Given the description of an element on the screen output the (x, y) to click on. 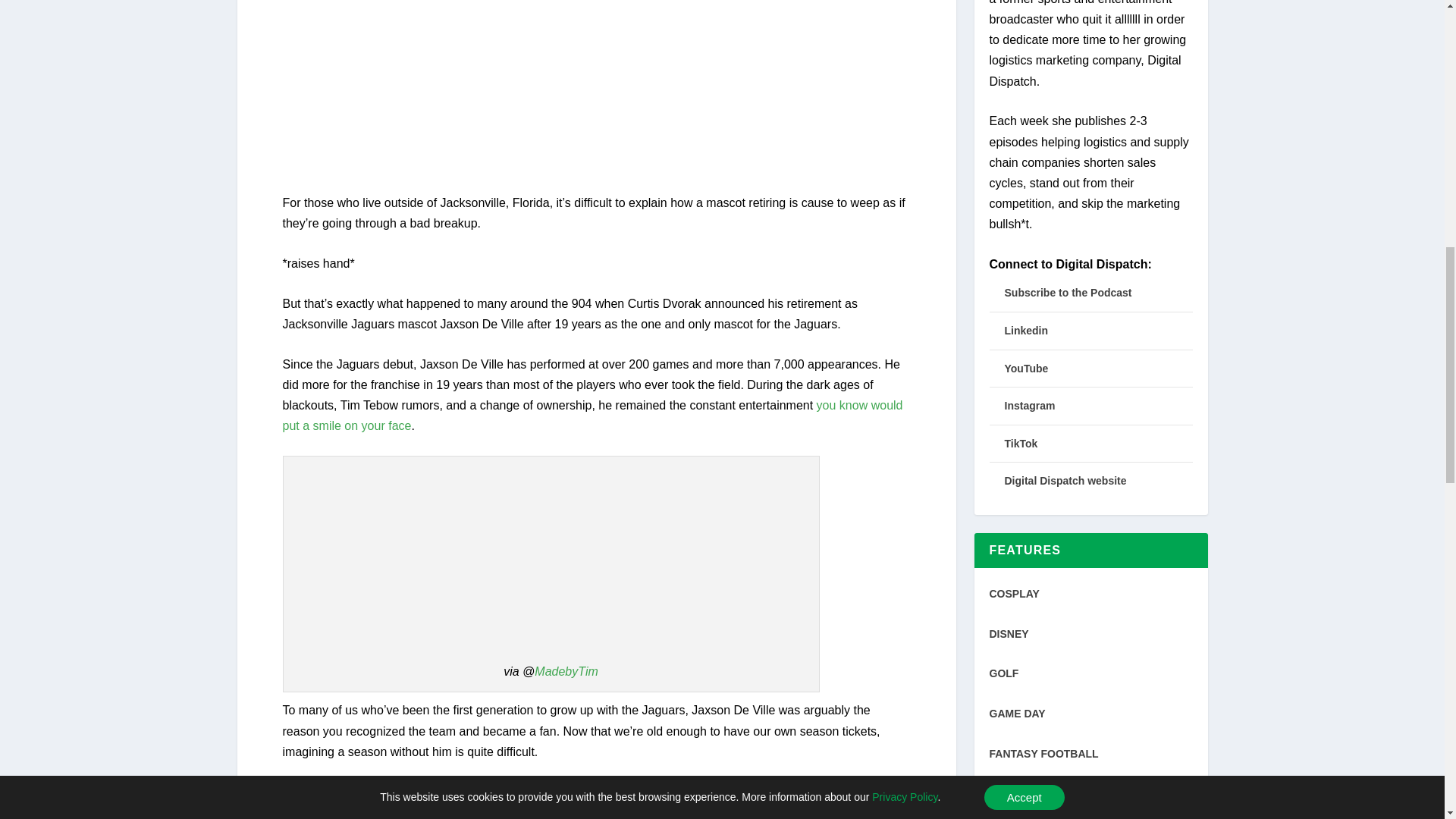
face (399, 425)
your (373, 425)
smile (326, 425)
MadebyTim (565, 671)
you (825, 404)
would (886, 404)
put (290, 425)
on (350, 425)
know (853, 404)
